Given the description of an element on the screen output the (x, y) to click on. 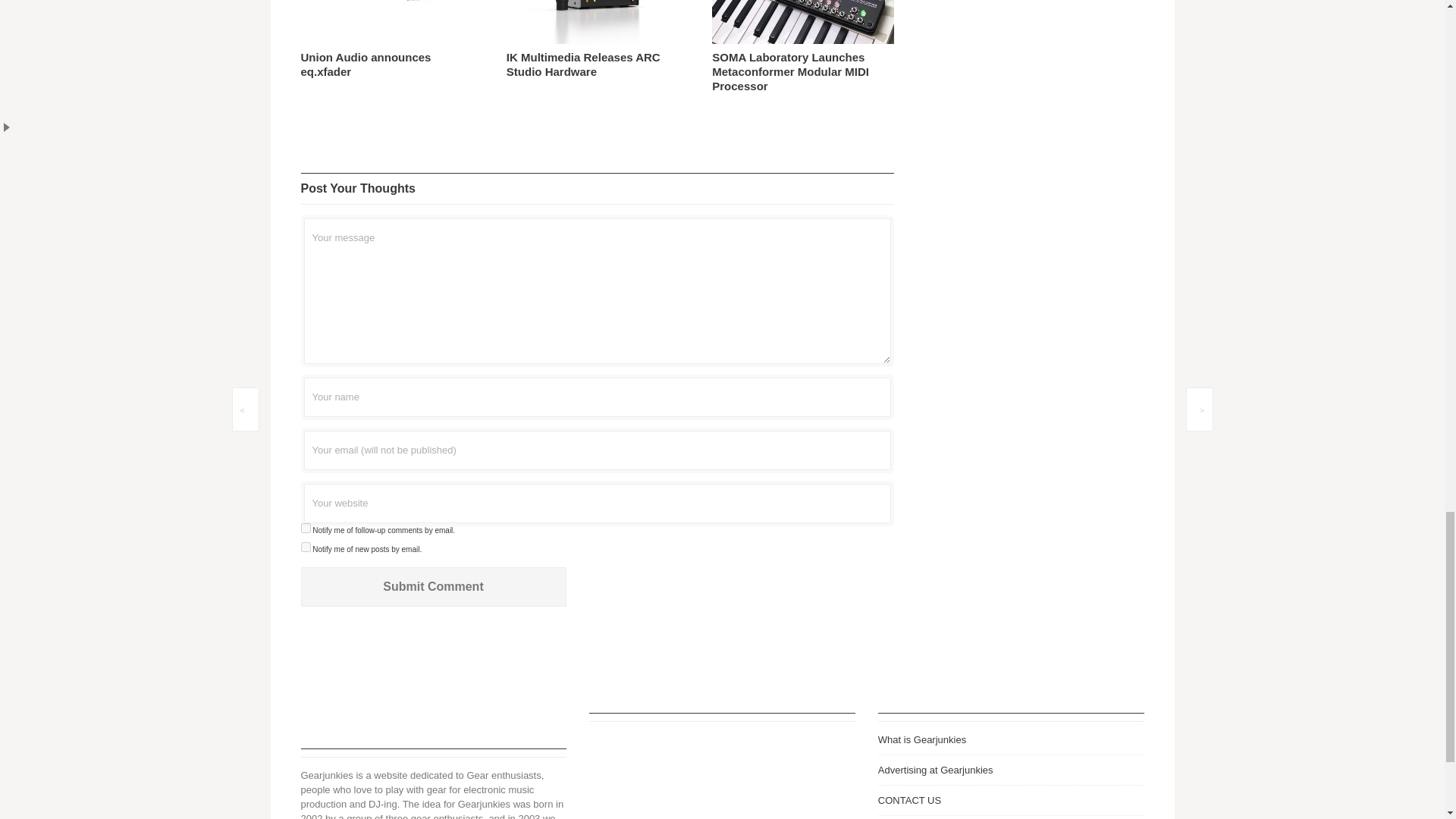
subscribe (304, 547)
Submit Comment (432, 586)
subscribe (304, 528)
